Given the description of an element on the screen output the (x, y) to click on. 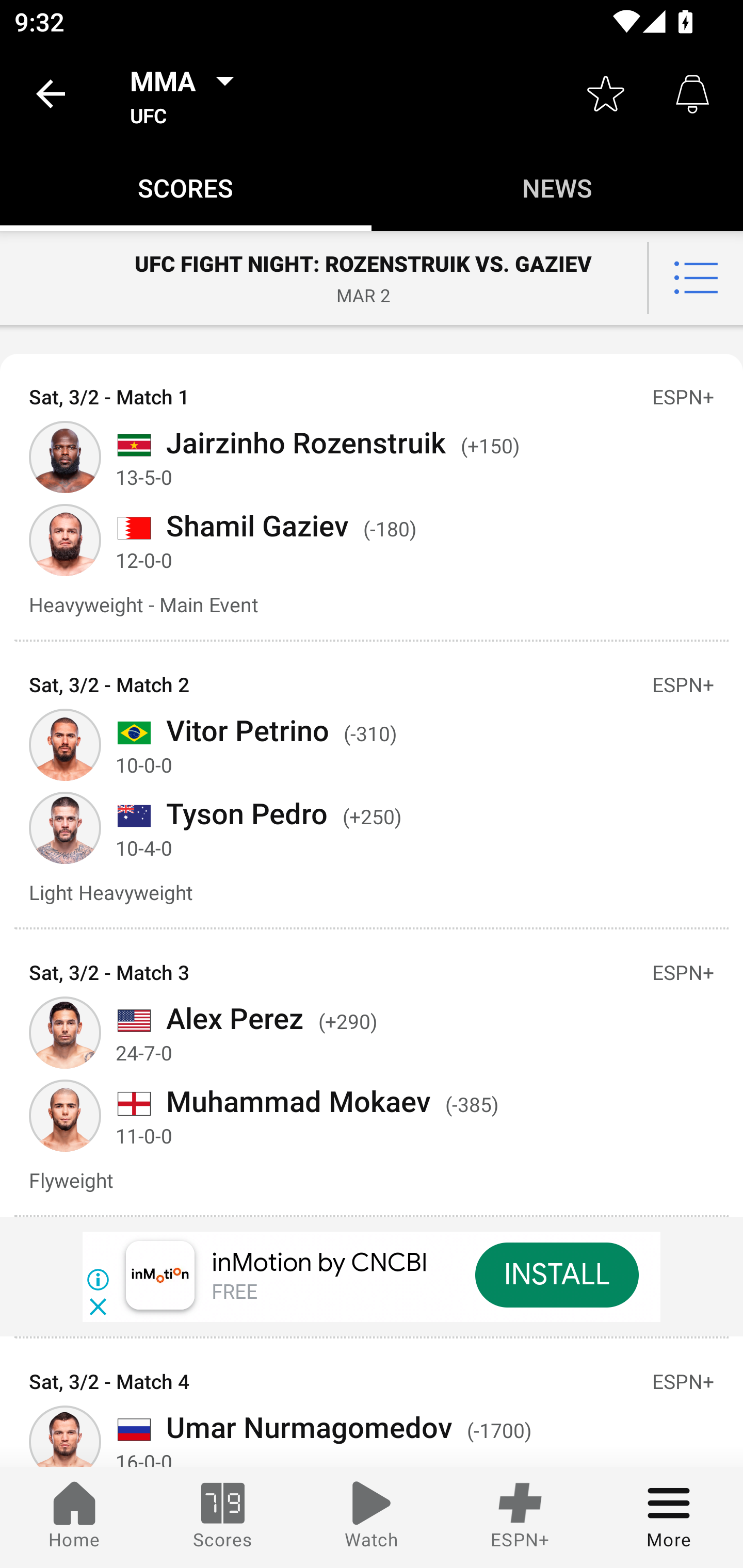
MMA UFC (188, 93)
Favorite toggle (605, 93)
Alerts (692, 93)
News NEWS (557, 187)
UFC FIGHT NIGHT: ROZENSTRUIK VS. GAZIEV MAR 2 ^ (371, 277)
INSTALL (556, 1274)
inMotion by CNCBI (319, 1262)
FREE (234, 1292)
Home (74, 1517)
Scores (222, 1517)
Watch (371, 1517)
ESPN+ (519, 1517)
